Given the description of an element on the screen output the (x, y) to click on. 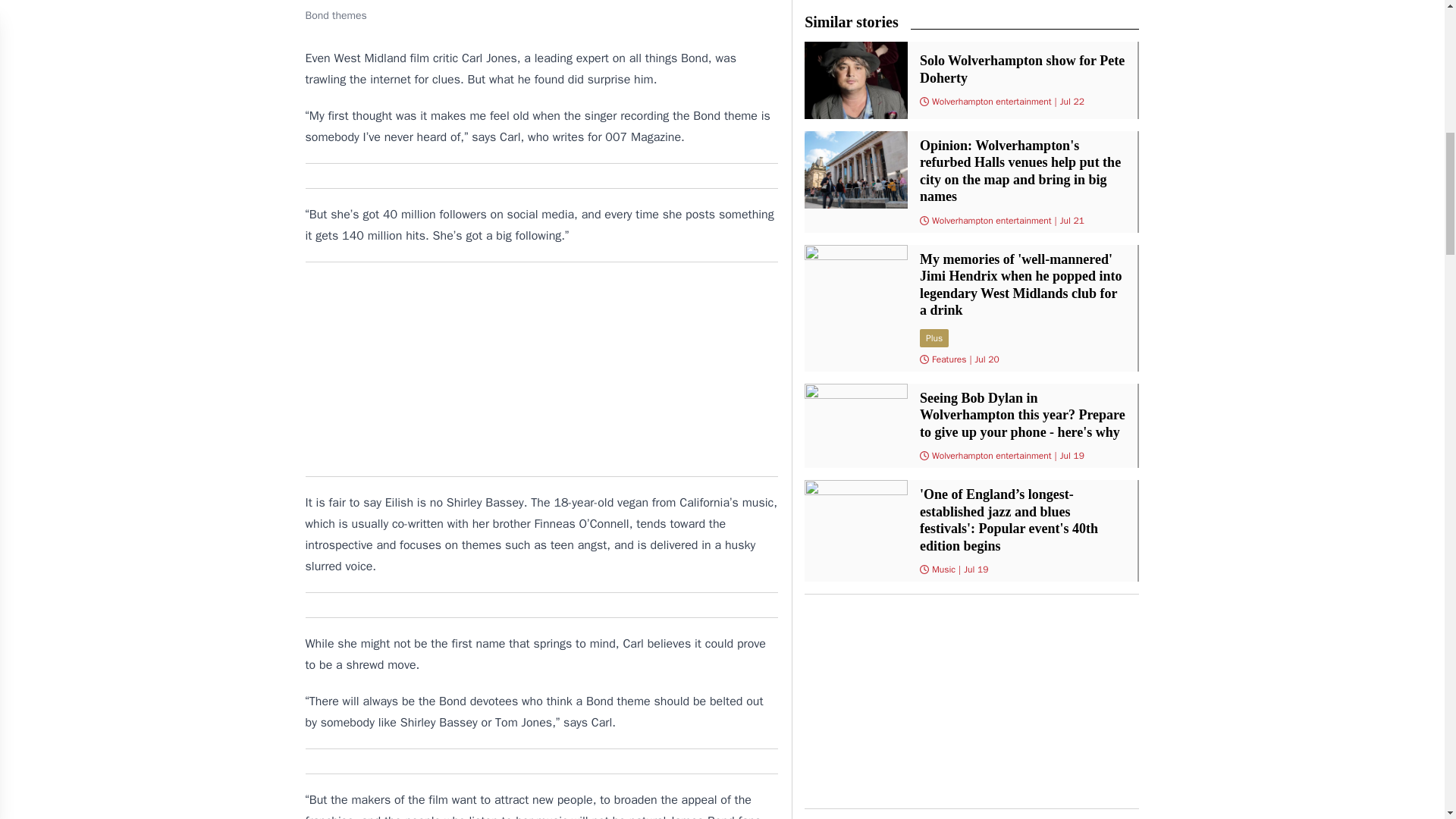
Wolverhampton entertainment (991, 455)
Music (943, 569)
Features (948, 358)
Wolverhampton entertainment (991, 220)
Wolverhampton entertainment (991, 101)
